Given the description of an element on the screen output the (x, y) to click on. 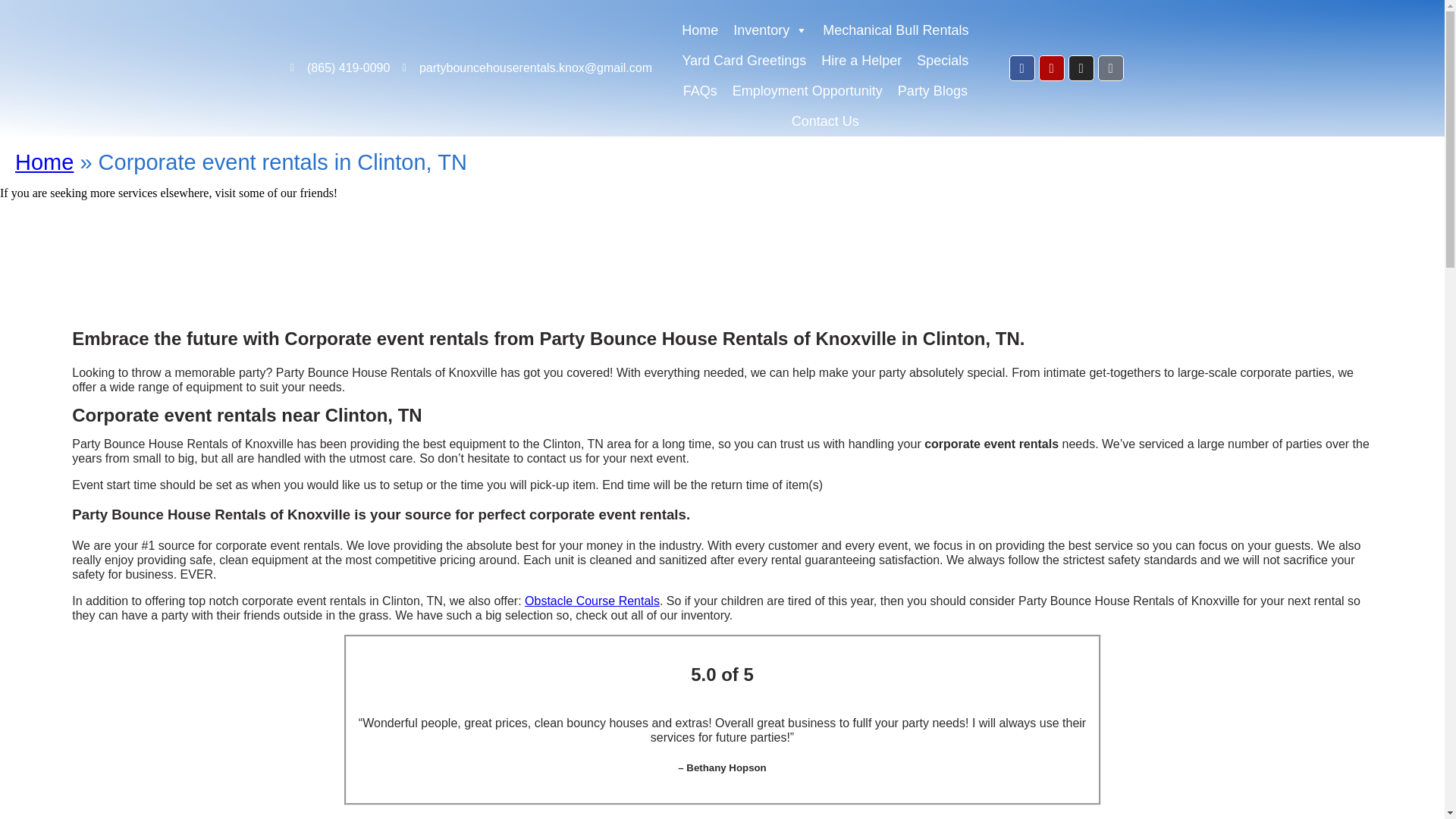
Home (699, 22)
Mechanical Bull Rentals (895, 22)
Yard Card Greetings (743, 52)
Inventory (770, 22)
